Given the description of an element on the screen output the (x, y) to click on. 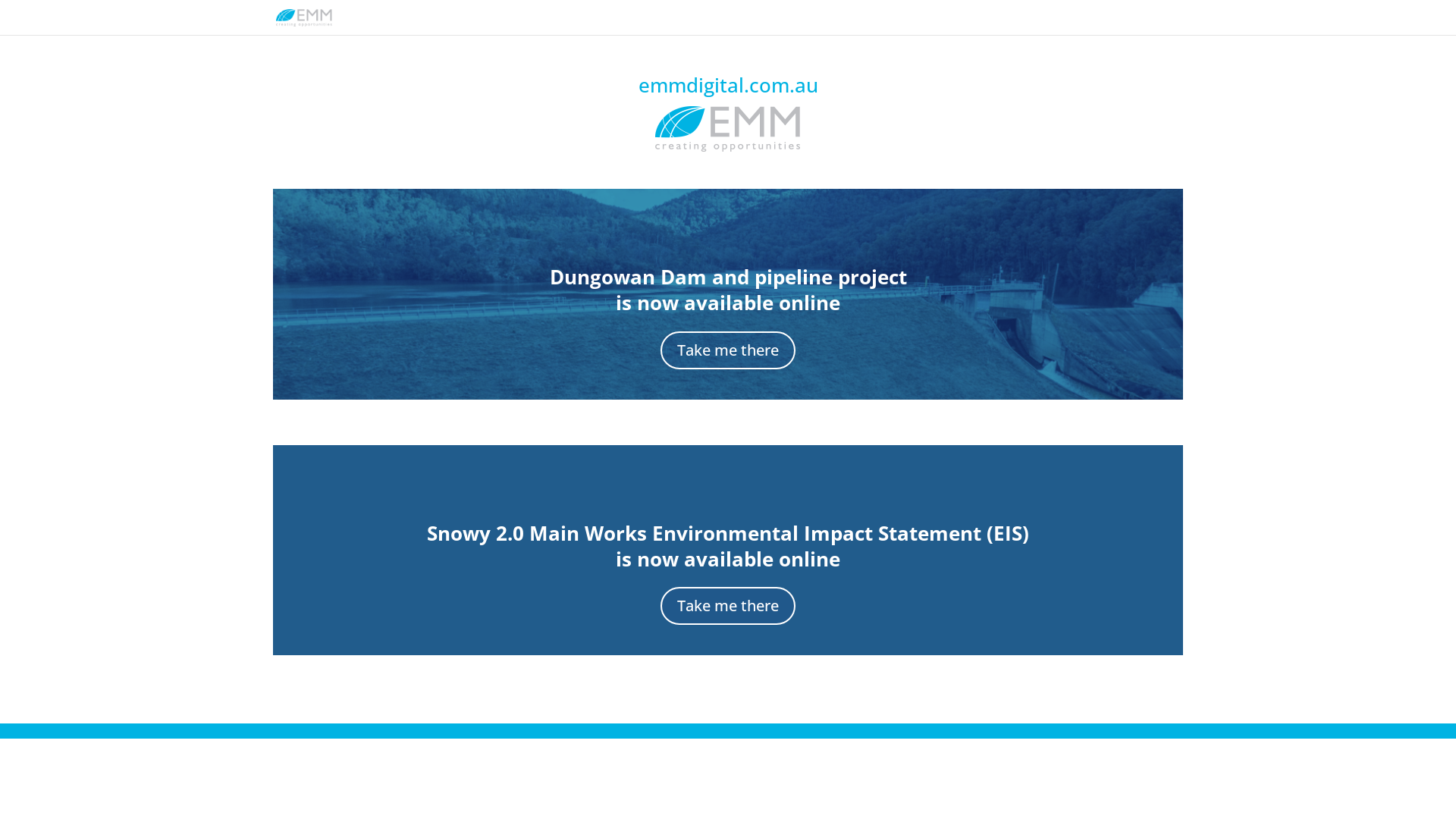
Take me there Element type: text (727, 350)
Take me there Element type: text (727, 605)
